Given the description of an element on the screen output the (x, y) to click on. 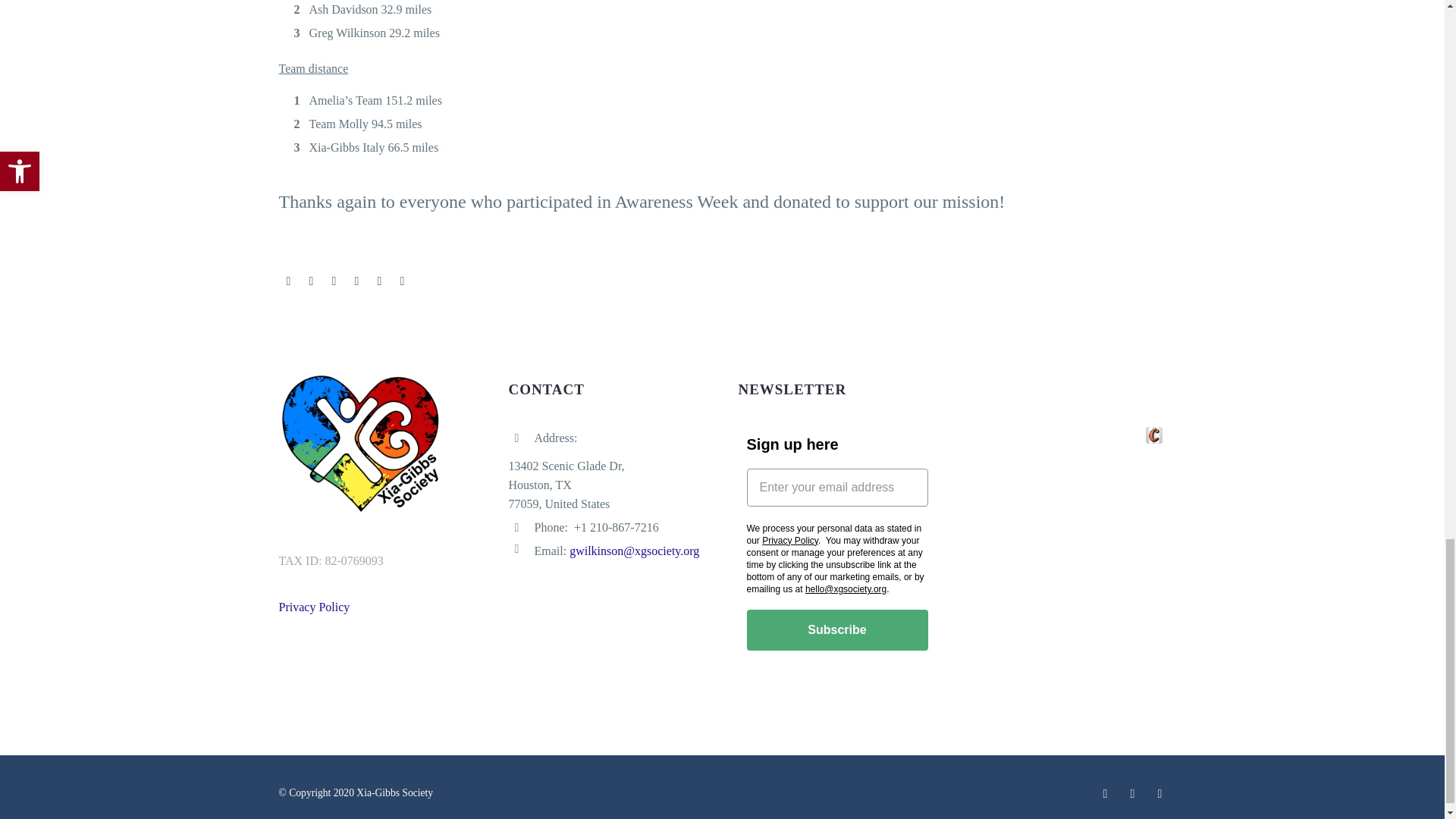
Twitter (310, 281)
Reddit (401, 281)
Tumblr (356, 281)
Pinterest (333, 281)
Facebook (288, 281)
LinkedIn (378, 281)
